Given the description of an element on the screen output the (x, y) to click on. 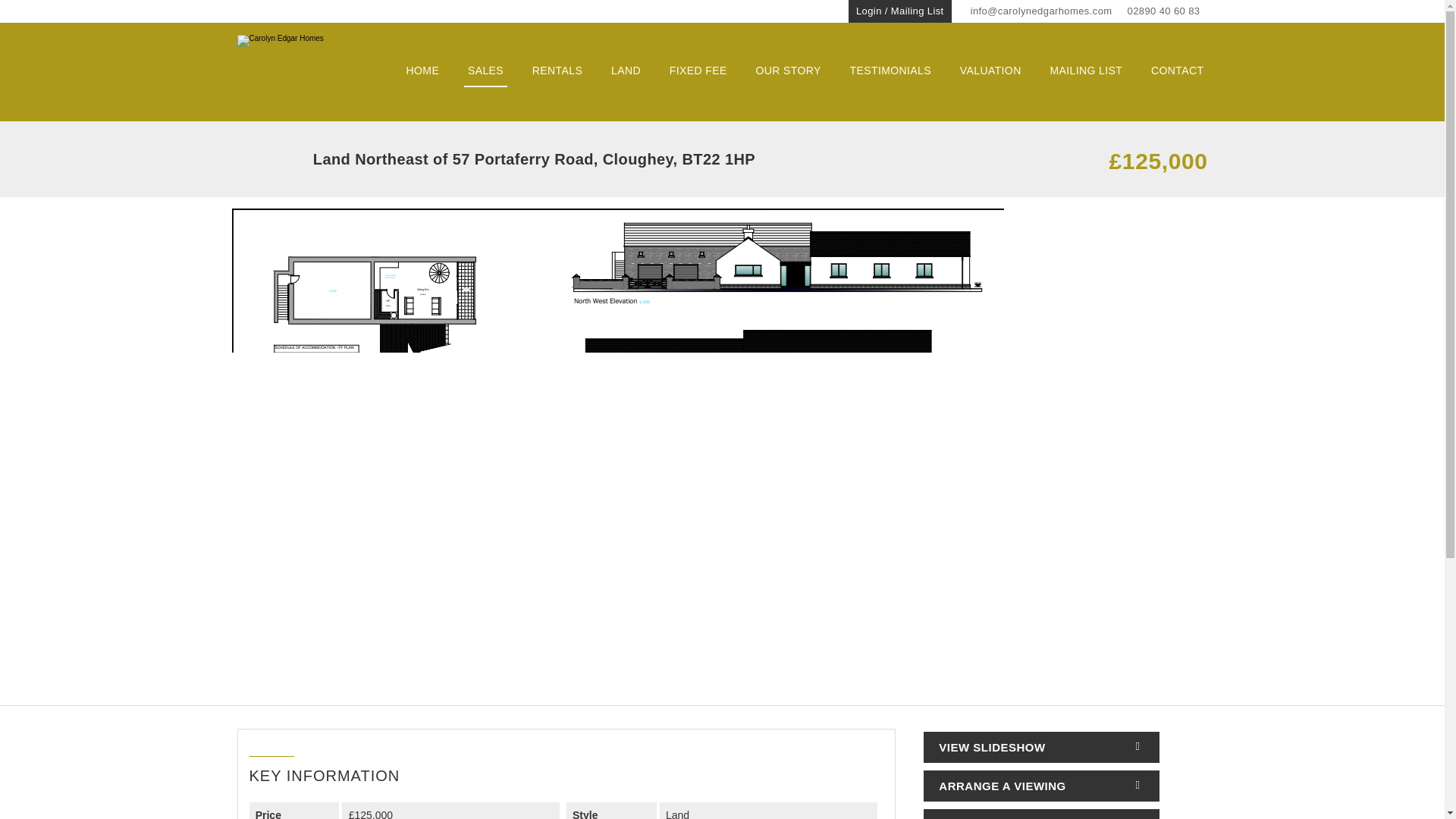
VALUATION (990, 70)
02890 40 60 83 (1163, 11)
VIEW SLIDESHOW (1040, 747)
LAND (626, 70)
MAILING LIST (1085, 70)
FIXED FEE (697, 70)
CONTACT (1177, 70)
REQUEST MORE INFO (1040, 814)
HOME (423, 70)
TESTIMONIALS (889, 70)
